Given the description of an element on the screen output the (x, y) to click on. 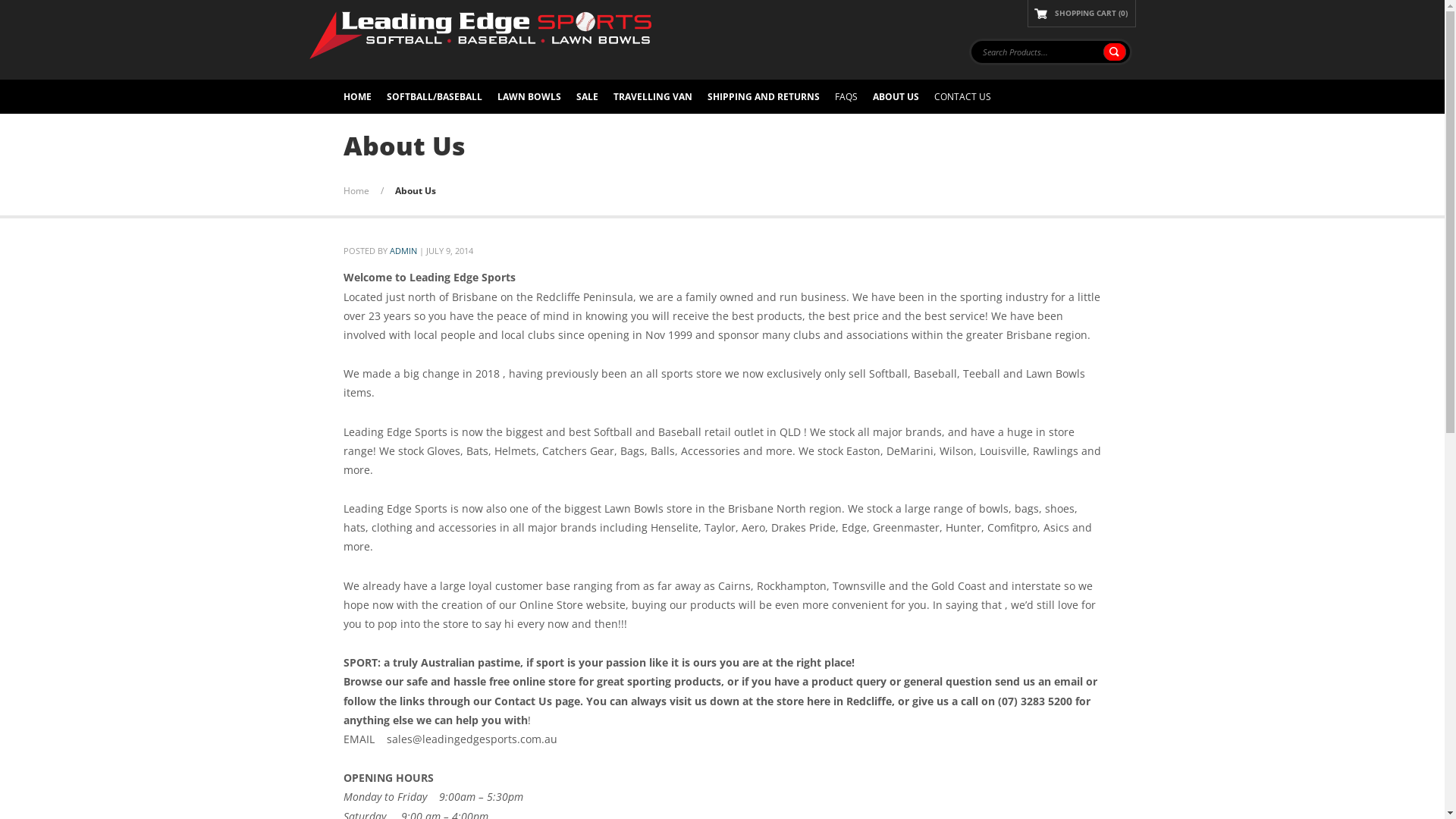
About Us Element type: text (414, 190)
ABOUT US Element type: text (895, 96)
Home Element type: text (355, 190)
SHIPPING AND RETURNS Element type: text (762, 96)
FAQS Element type: text (845, 96)
SALE Element type: text (587, 96)
ADMIN Element type: text (403, 250)
LAWN BOWLS Element type: text (529, 96)
SOFTBALL/BASEBALL Element type: text (434, 96)
HOME Element type: text (356, 96)
TRAVELLING VAN Element type: text (651, 96)
SHOPPING CART (0) Element type: text (1080, 13)
CONTACT US Element type: text (962, 96)
